Given the description of an element on the screen output the (x, y) to click on. 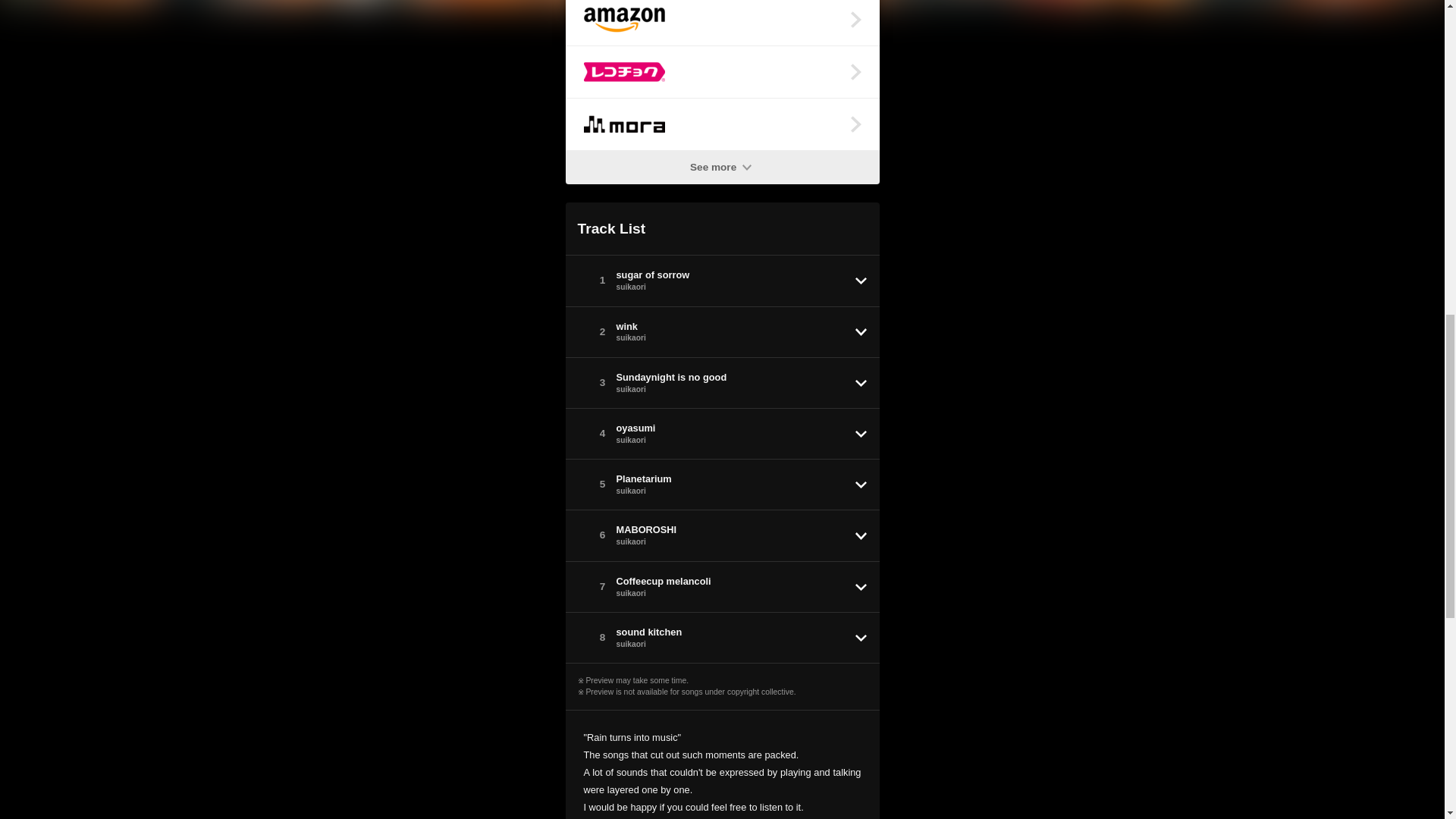
Available on Amazon Music (722, 22)
Available on recochoku (722, 71)
Available on mora (722, 123)
